Given the description of an element on the screen output the (x, y) to click on. 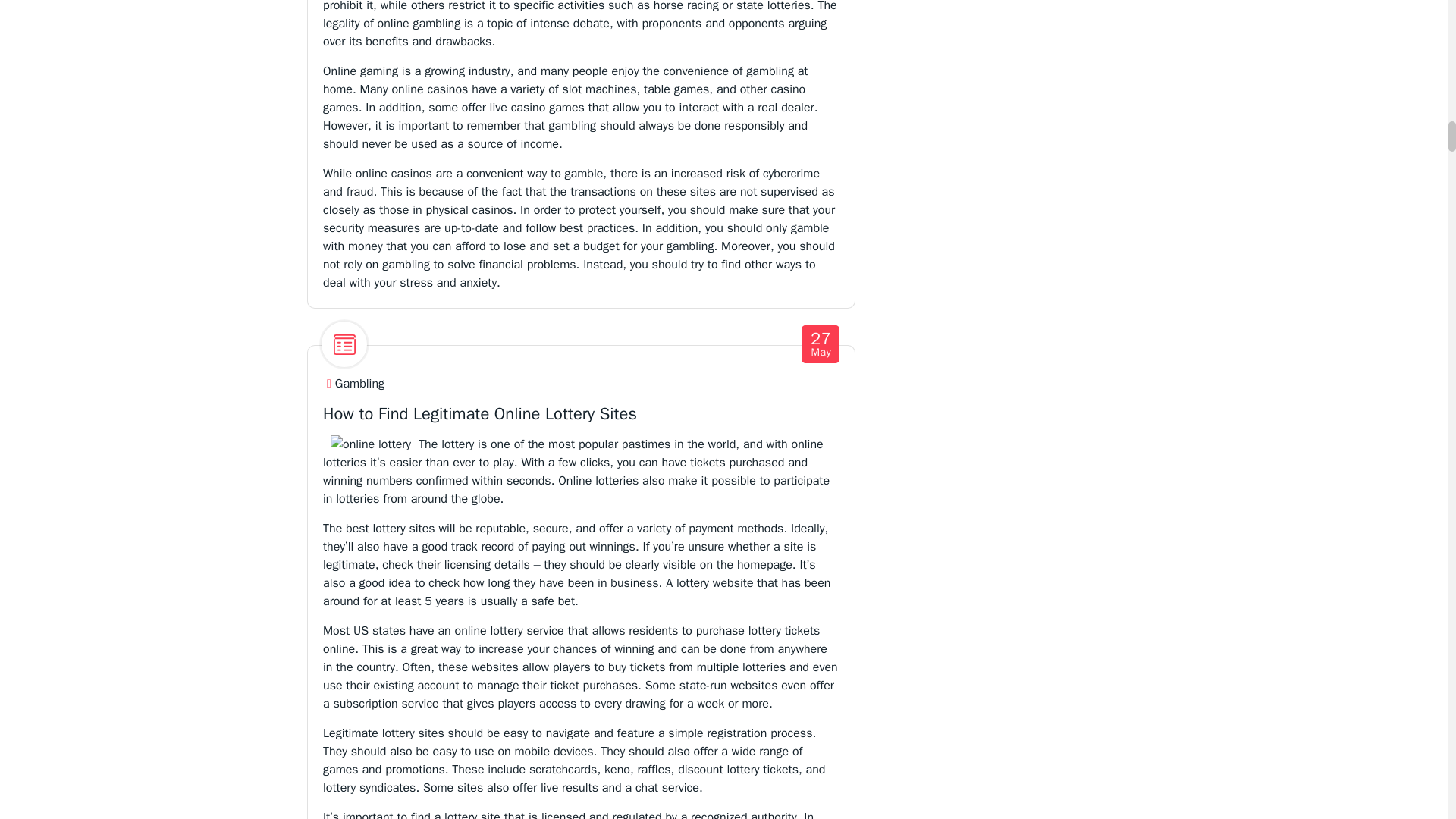
Gambling (359, 383)
How to Find Legitimate Online Lottery Sites (820, 344)
